Given the description of an element on the screen output the (x, y) to click on. 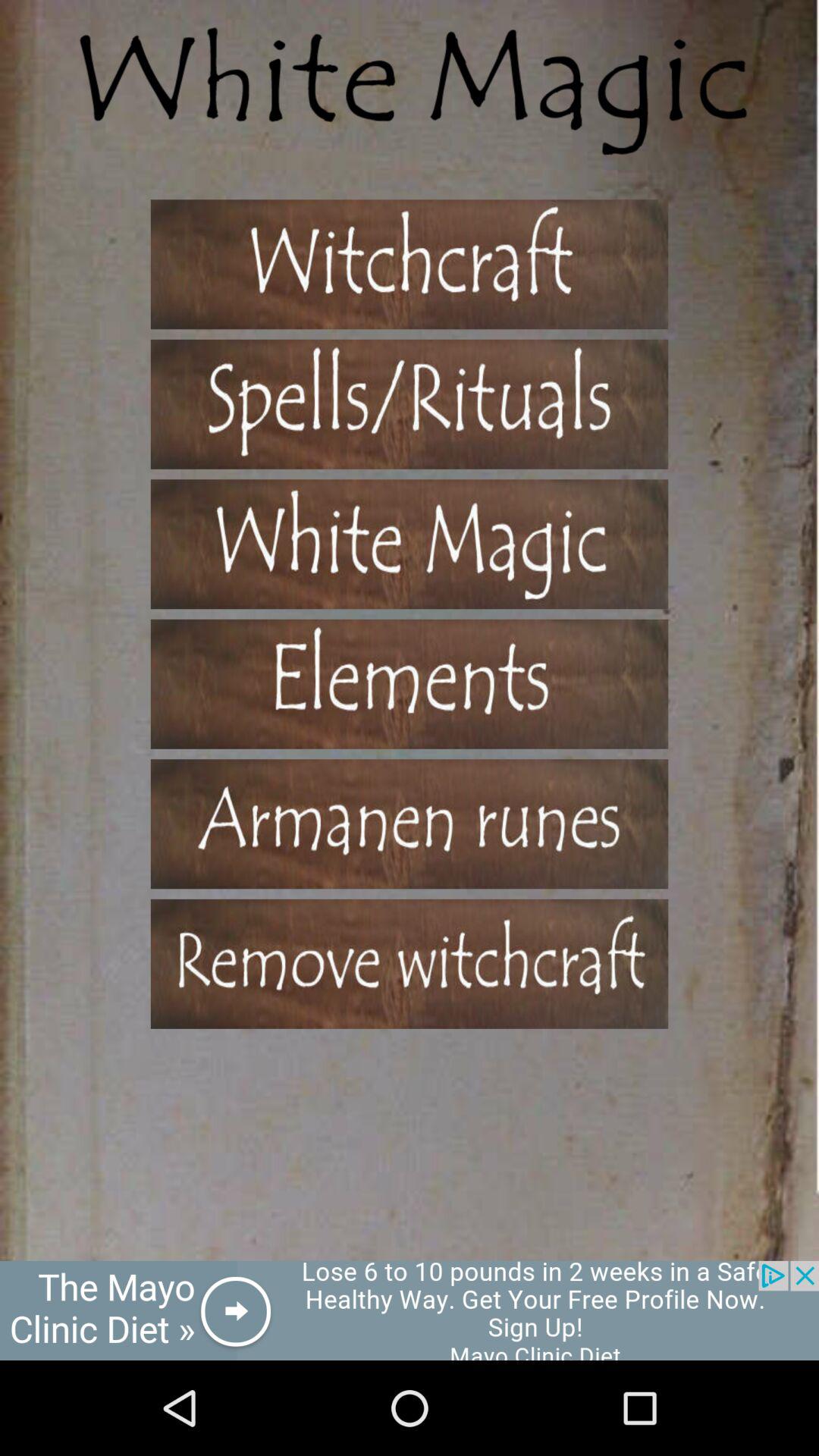
list spells (409, 963)
